Given the description of an element on the screen output the (x, y) to click on. 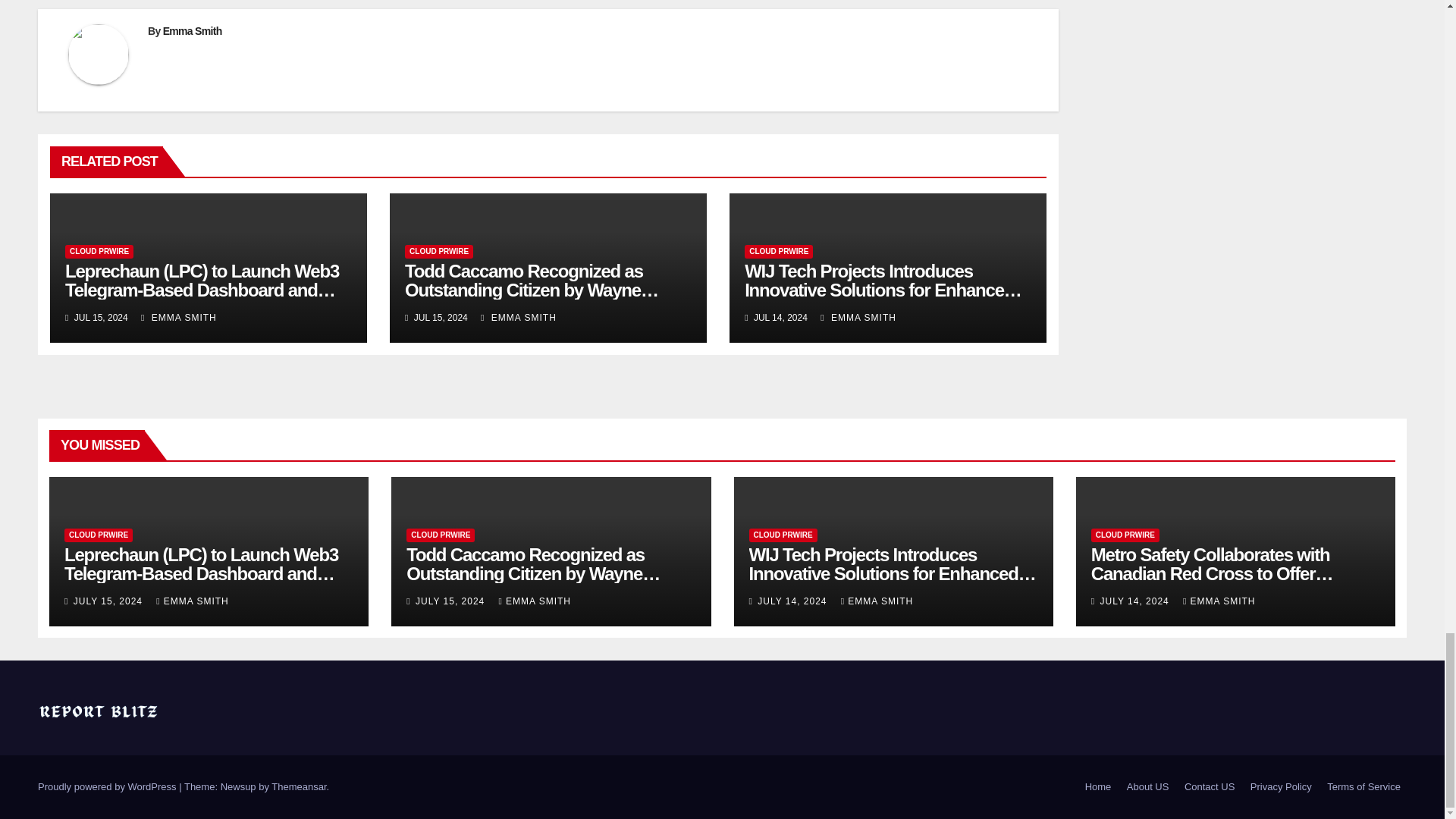
Contact US (1208, 786)
Privacy Policy (1280, 786)
CLOUD PRWIRE (99, 251)
EMMA SMITH (518, 317)
About US (1147, 786)
CLOUD PRWIRE (438, 251)
Home (1098, 786)
EMMA SMITH (178, 317)
Emma Smith (192, 30)
